Given the description of an element on the screen output the (x, y) to click on. 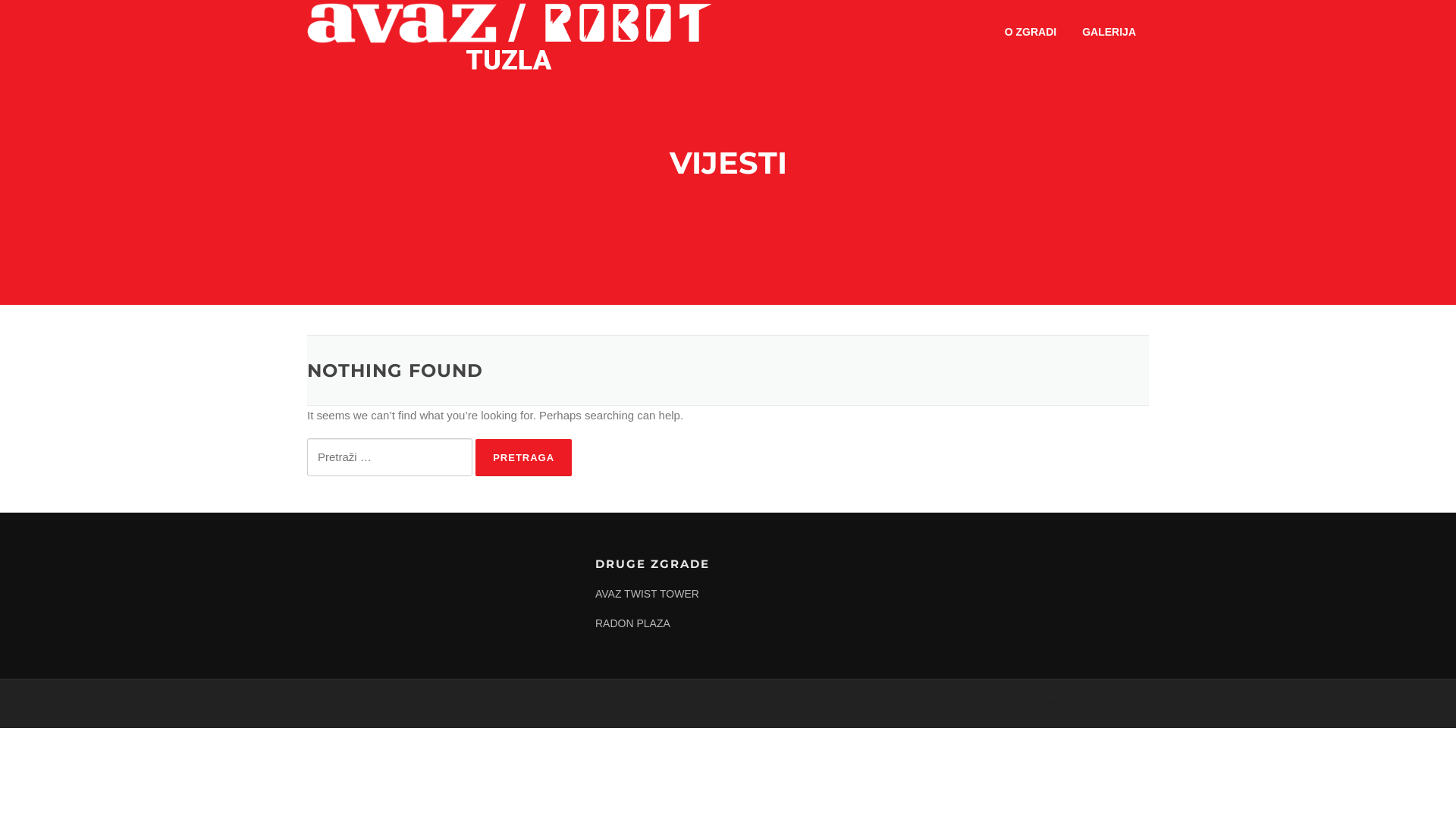
GALERIJA Element type: text (1108, 32)
O ZGRADI Element type: text (1030, 32)
Screenr parallax theme Element type: text (1020, 703)
RADON PLAZA Element type: text (632, 623)
AVAZ TWIST TOWER Element type: text (647, 593)
Skip to content Element type: text (0, 0)
Pretraga Element type: text (523, 457)
